Given the description of an element on the screen output the (x, y) to click on. 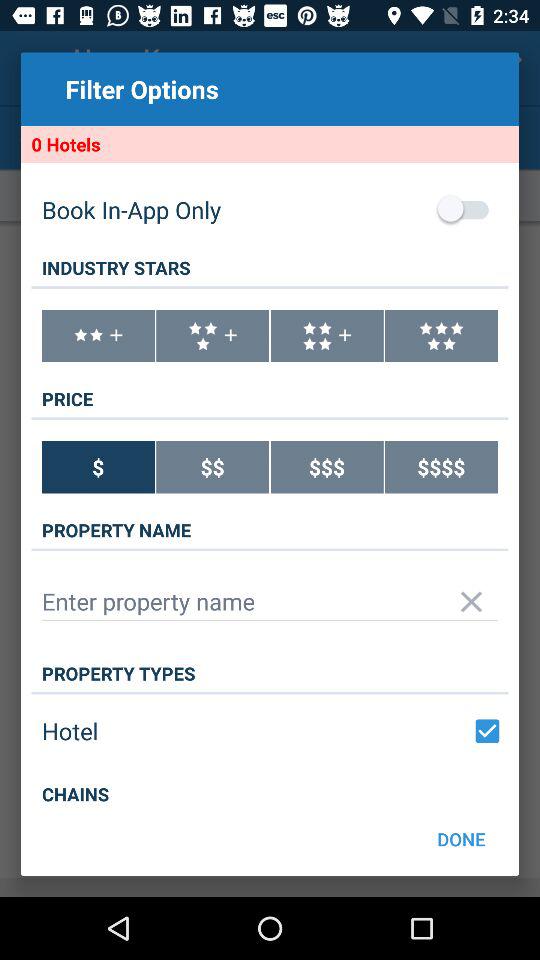
enter property name (269, 601)
